Given the description of an element on the screen output the (x, y) to click on. 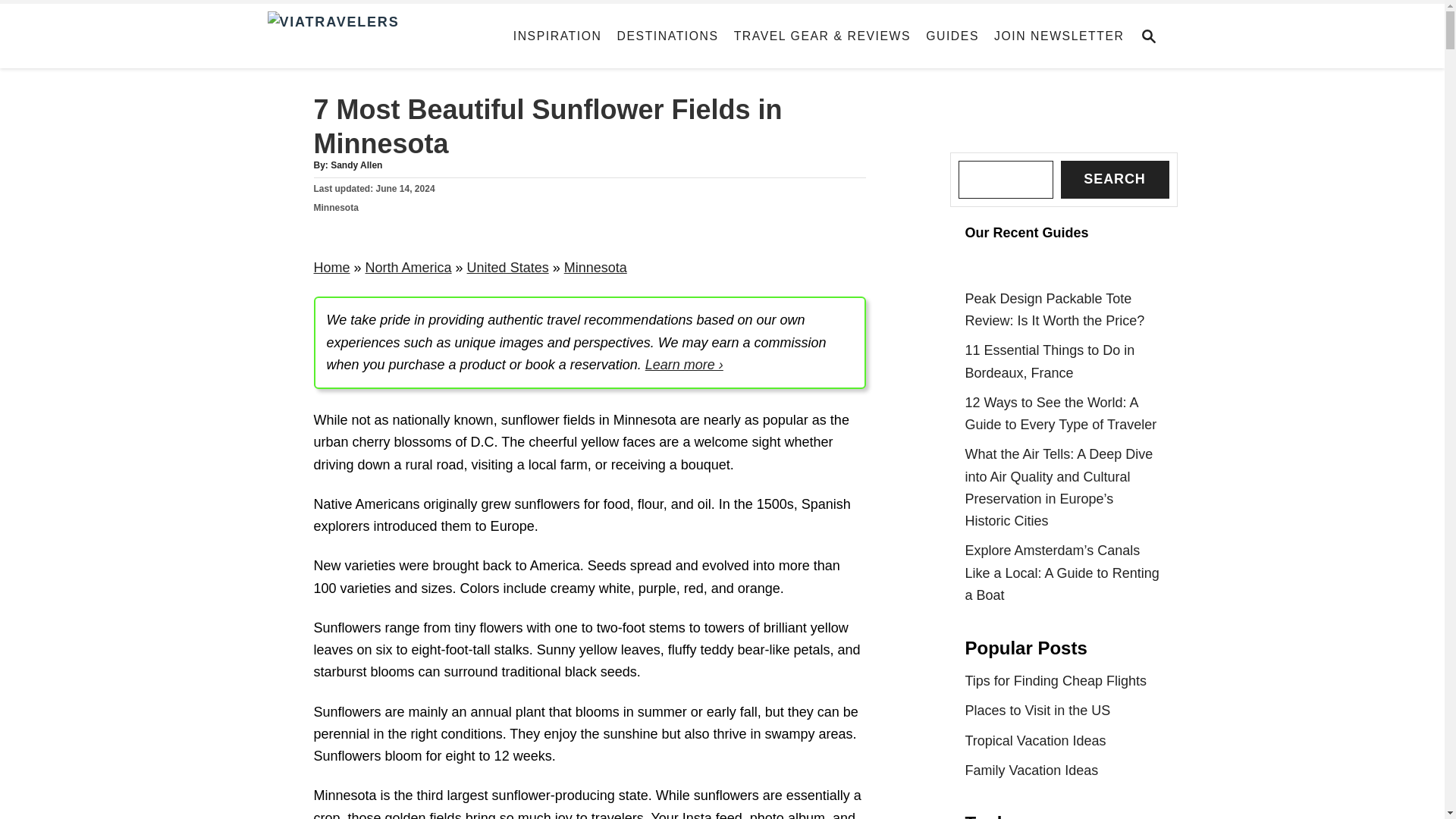
DESTINATIONS (668, 36)
INSPIRATION (557, 36)
ViaTravelers (382, 35)
SEARCH (1153, 36)
